Given the description of an element on the screen output the (x, y) to click on. 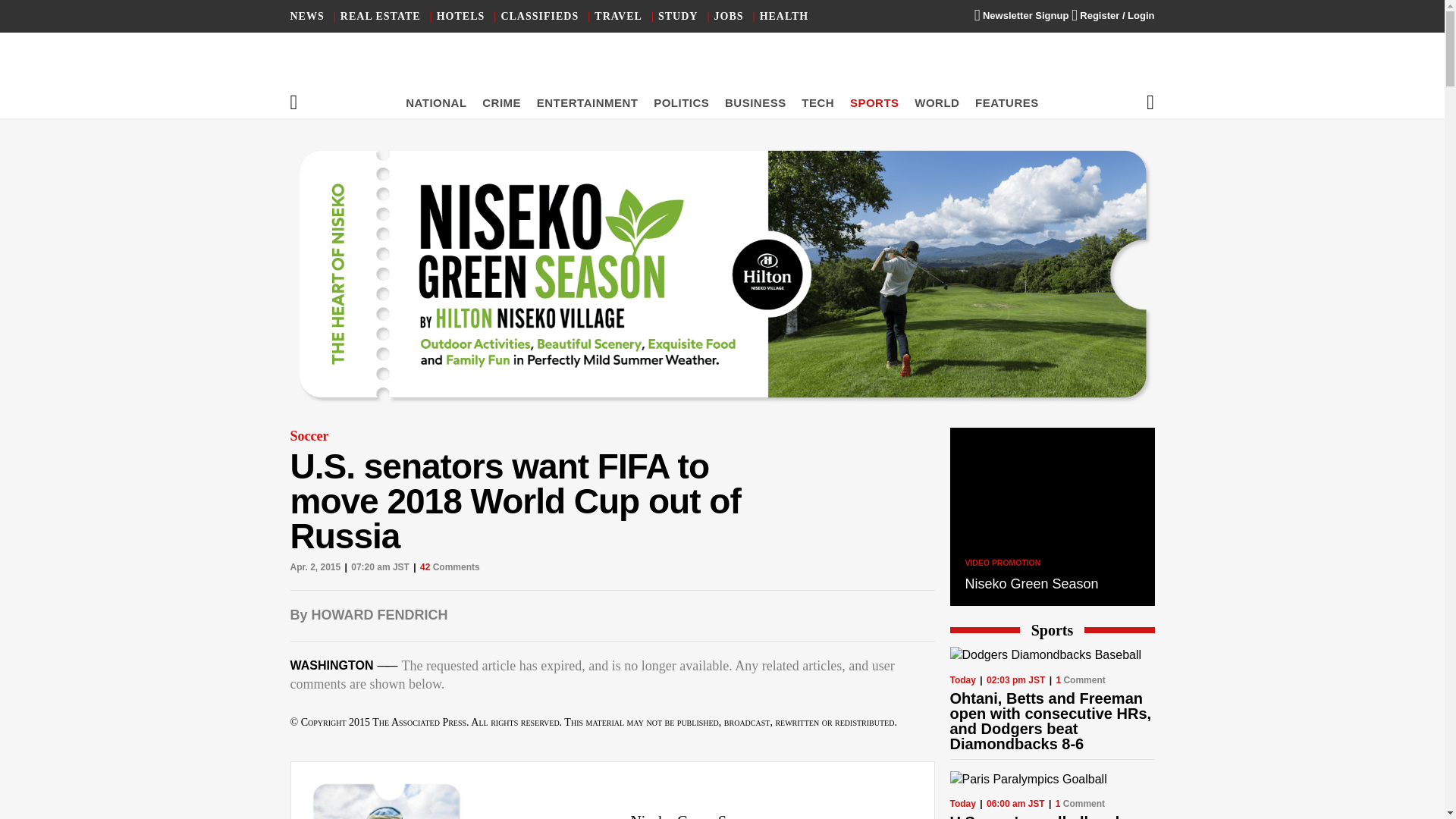
REAL ESTATE (380, 16)
TRAVEL (618, 16)
CRIME (501, 102)
Japan Today (721, 67)
POLITICS (681, 102)
CLASSIFIEDS (539, 16)
WORLD (936, 102)
STUDY (677, 16)
